Given the description of an element on the screen output the (x, y) to click on. 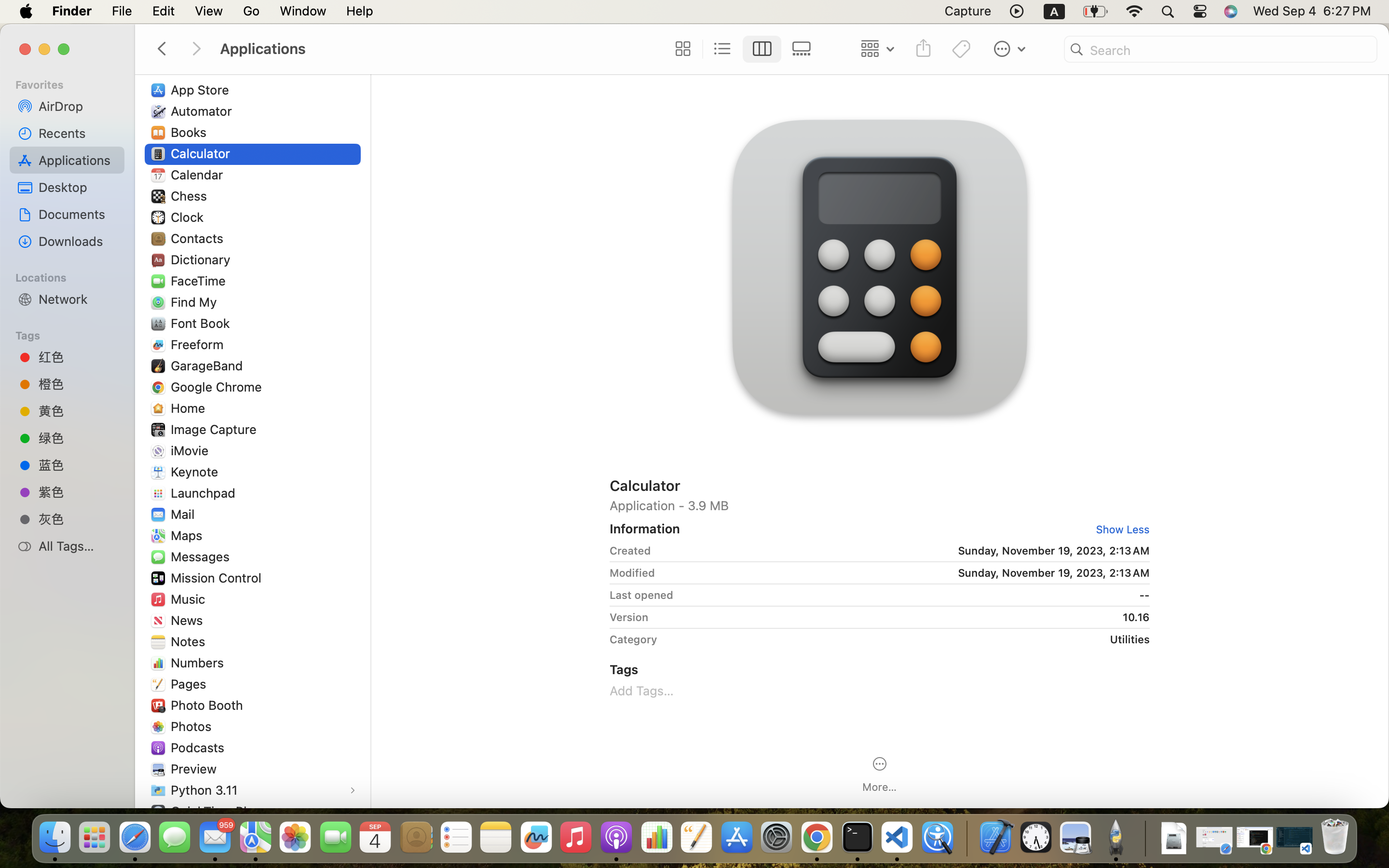
Contacts Element type: AXTextField (198, 237)
Keynote Element type: AXTextField (196, 471)
1 Element type: AXCheckBox (1119, 529)
Clock Element type: AXTextField (189, 216)
0 Element type: AXRadioButton (680, 48)
